Given the description of an element on the screen output the (x, y) to click on. 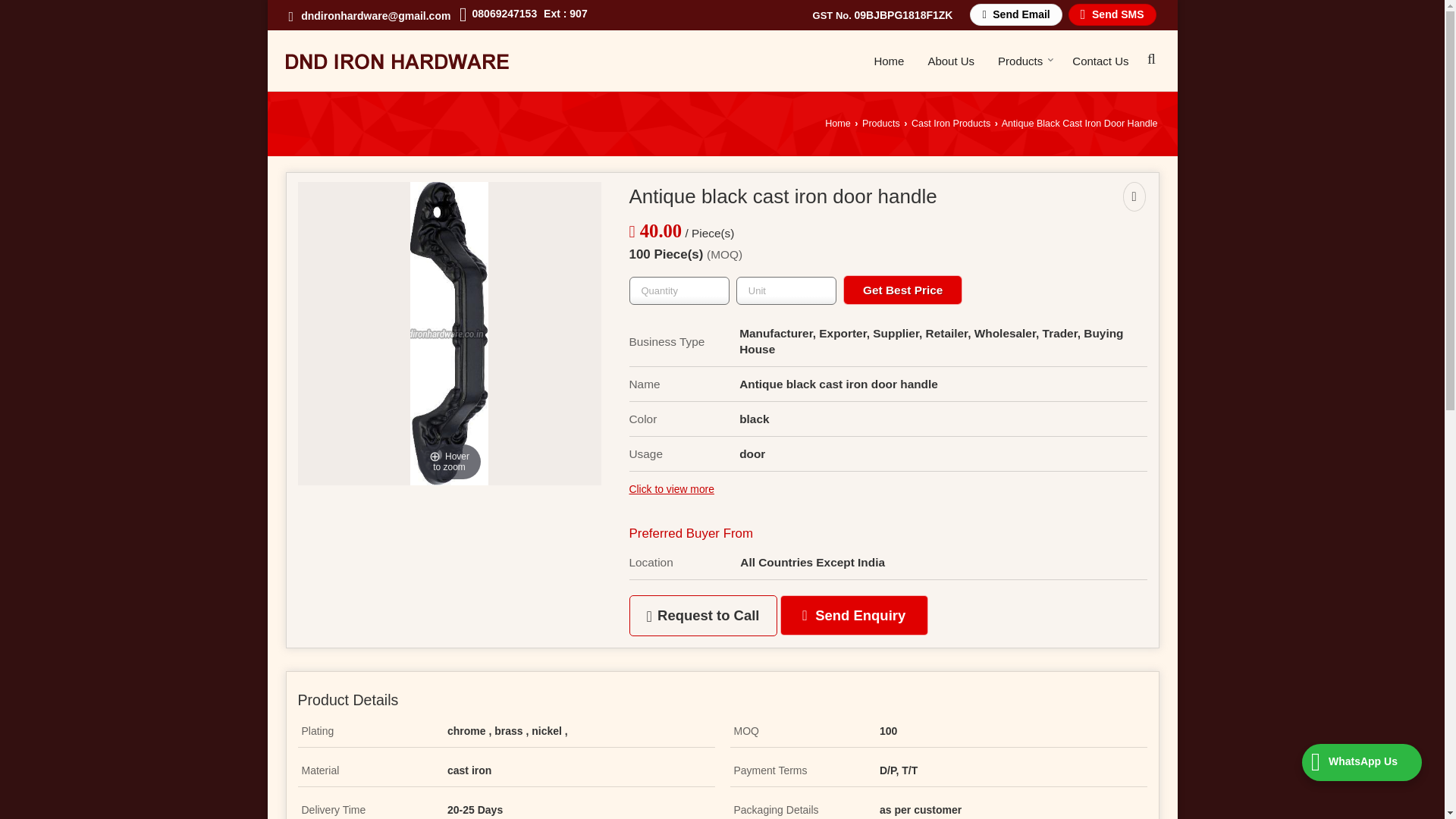
DND Iron Hardware (396, 61)
Home (837, 122)
DND Iron Hardware (396, 60)
